Given the description of an element on the screen output the (x, y) to click on. 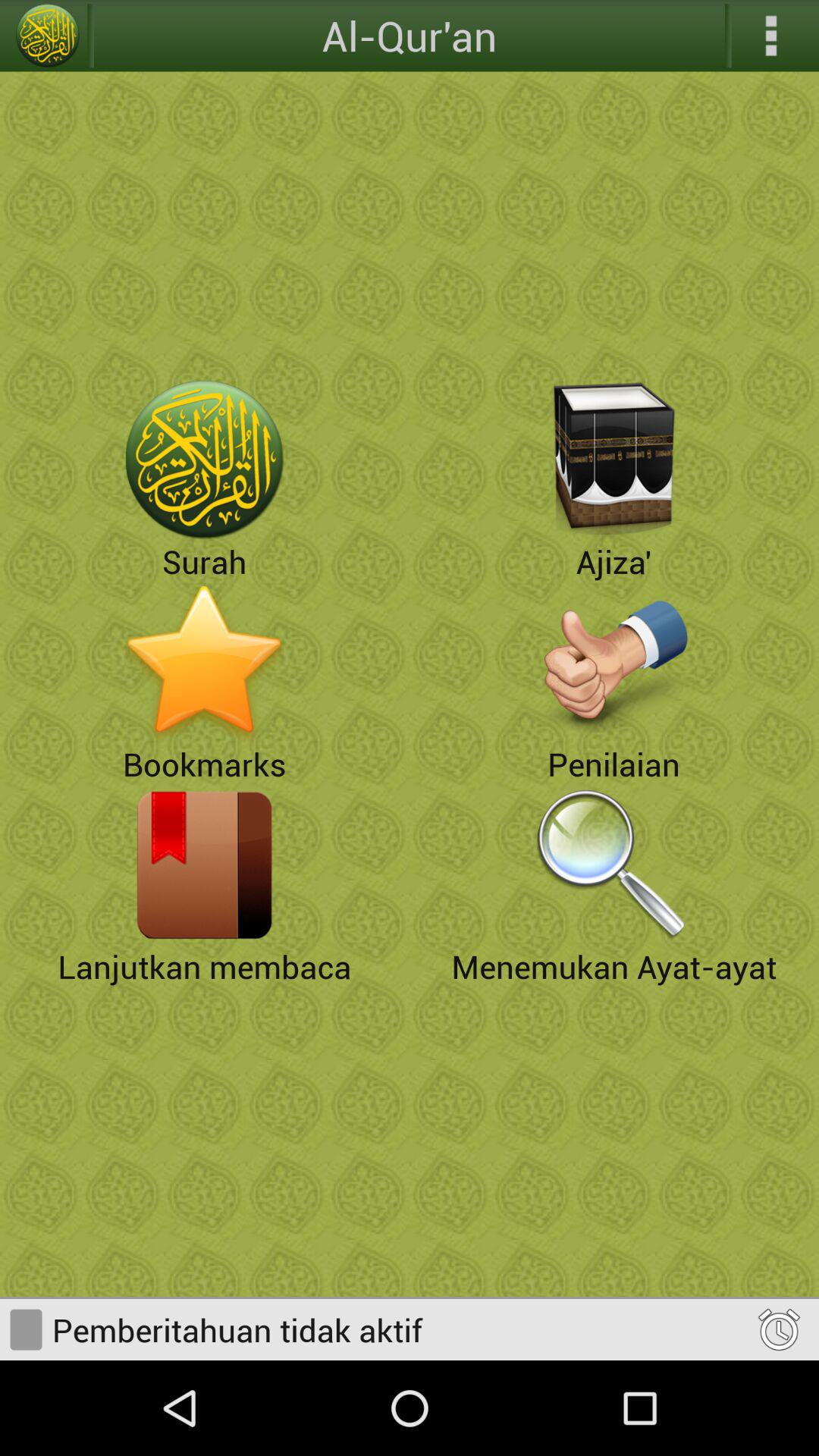
go to penilaian (613, 662)
